Given the description of an element on the screen output the (x, y) to click on. 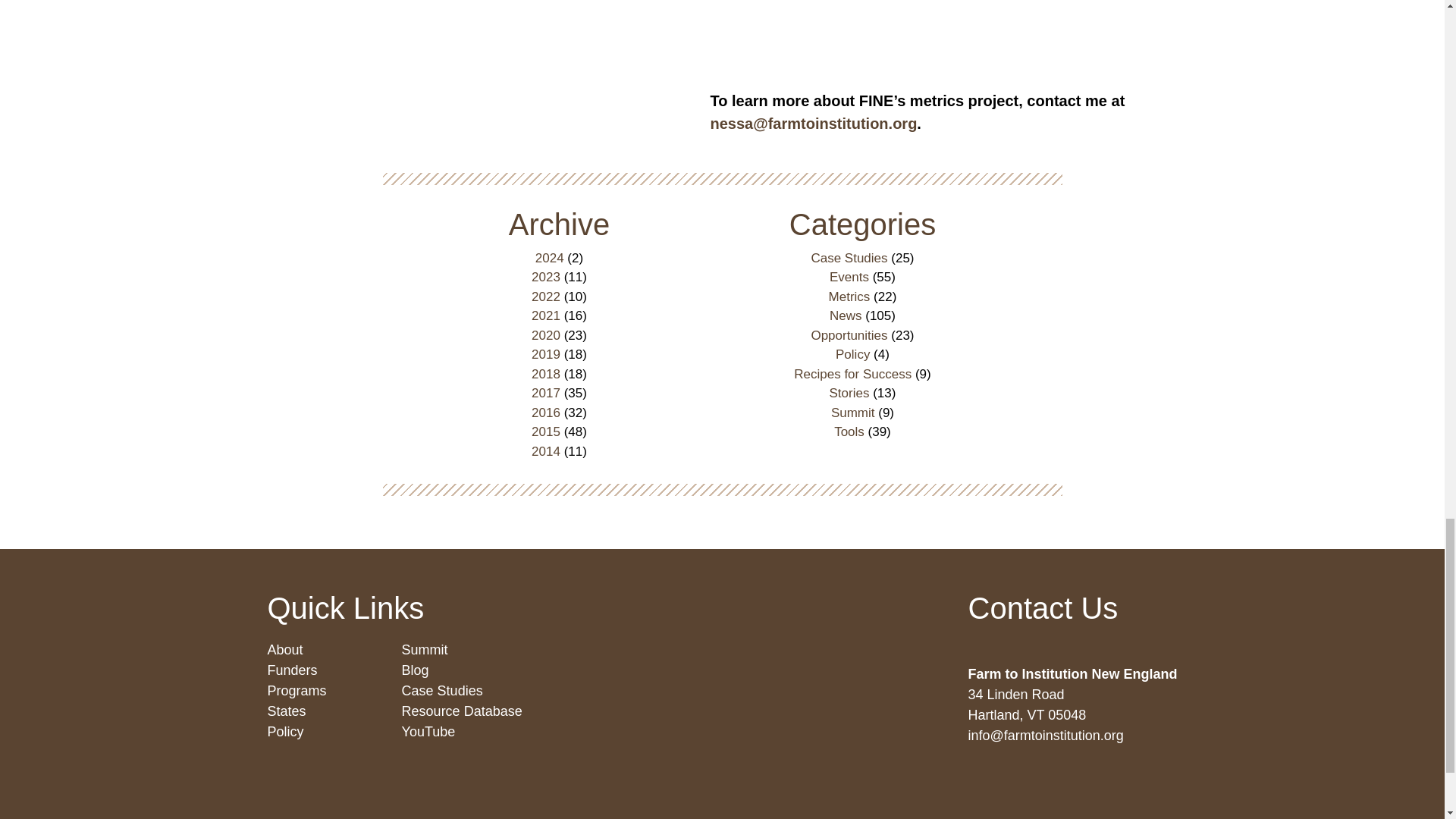
Opportunities (848, 335)
Tools (849, 431)
2023 (545, 277)
Policy (852, 354)
Events (849, 277)
Summit (853, 412)
2024 (549, 257)
Case Studies (848, 257)
News (845, 315)
2018 (545, 373)
2020 (545, 335)
Recipes for Success (852, 373)
Stories (849, 392)
2019 (545, 354)
2014 (545, 451)
